Given the description of an element on the screen output the (x, y) to click on. 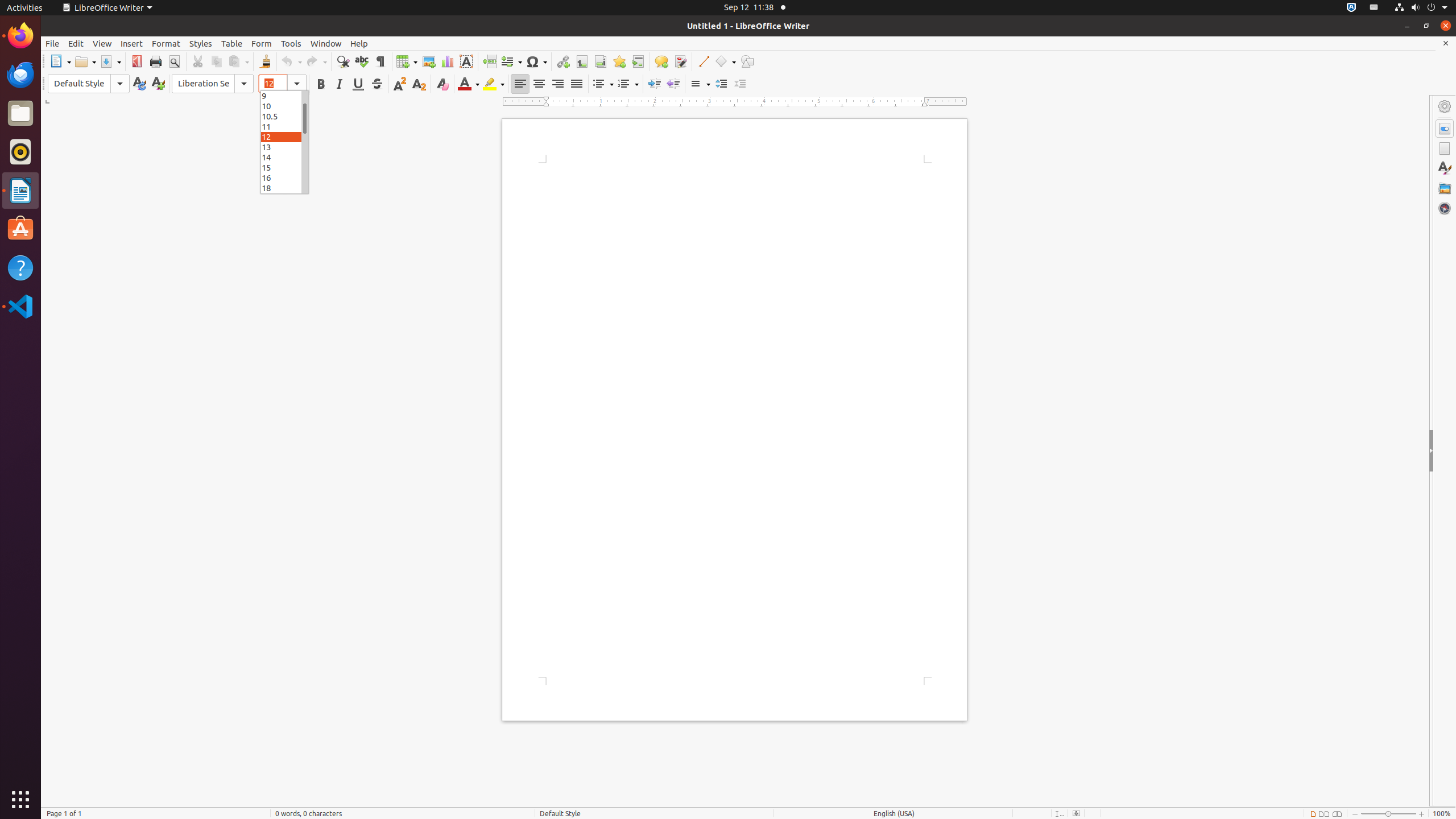
Format Element type: menu (165, 43)
Bullets Element type: push-button (602, 83)
Formatting Marks Element type: toggle-button (379, 61)
Insert Element type: menu (131, 43)
Image Element type: push-button (428, 61)
